Given the description of an element on the screen output the (x, y) to click on. 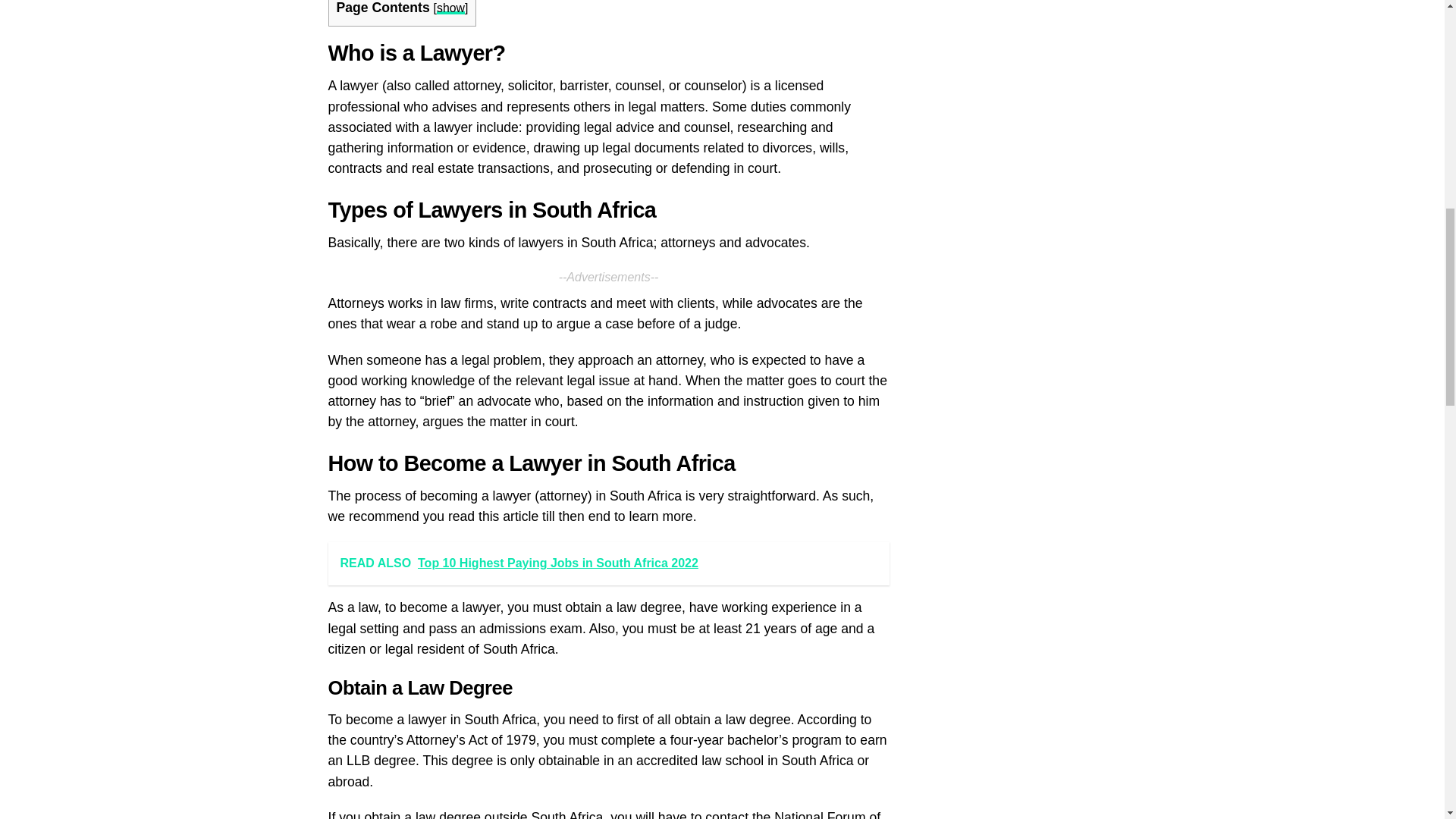
READ ALSO  Top 10 Highest Paying Jobs in South Africa 2022 (607, 563)
show (450, 7)
